Given the description of an element on the screen output the (x, y) to click on. 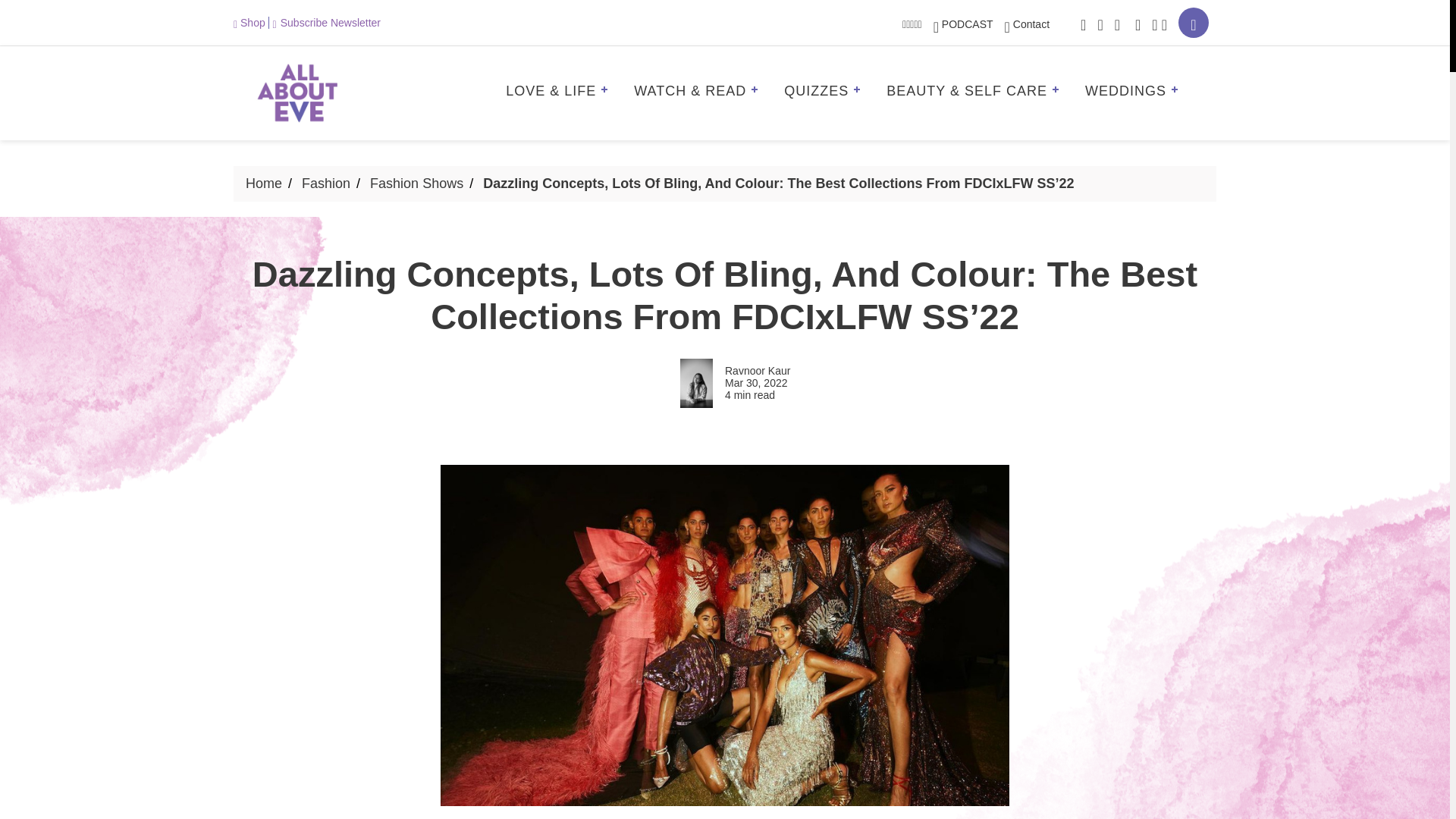
Shop (250, 22)
Home (264, 183)
Subscribe Newsletter (326, 22)
Contact (1026, 24)
QUIZZES (827, 92)
PODCAST (962, 24)
